Given the description of an element on the screen output the (x, y) to click on. 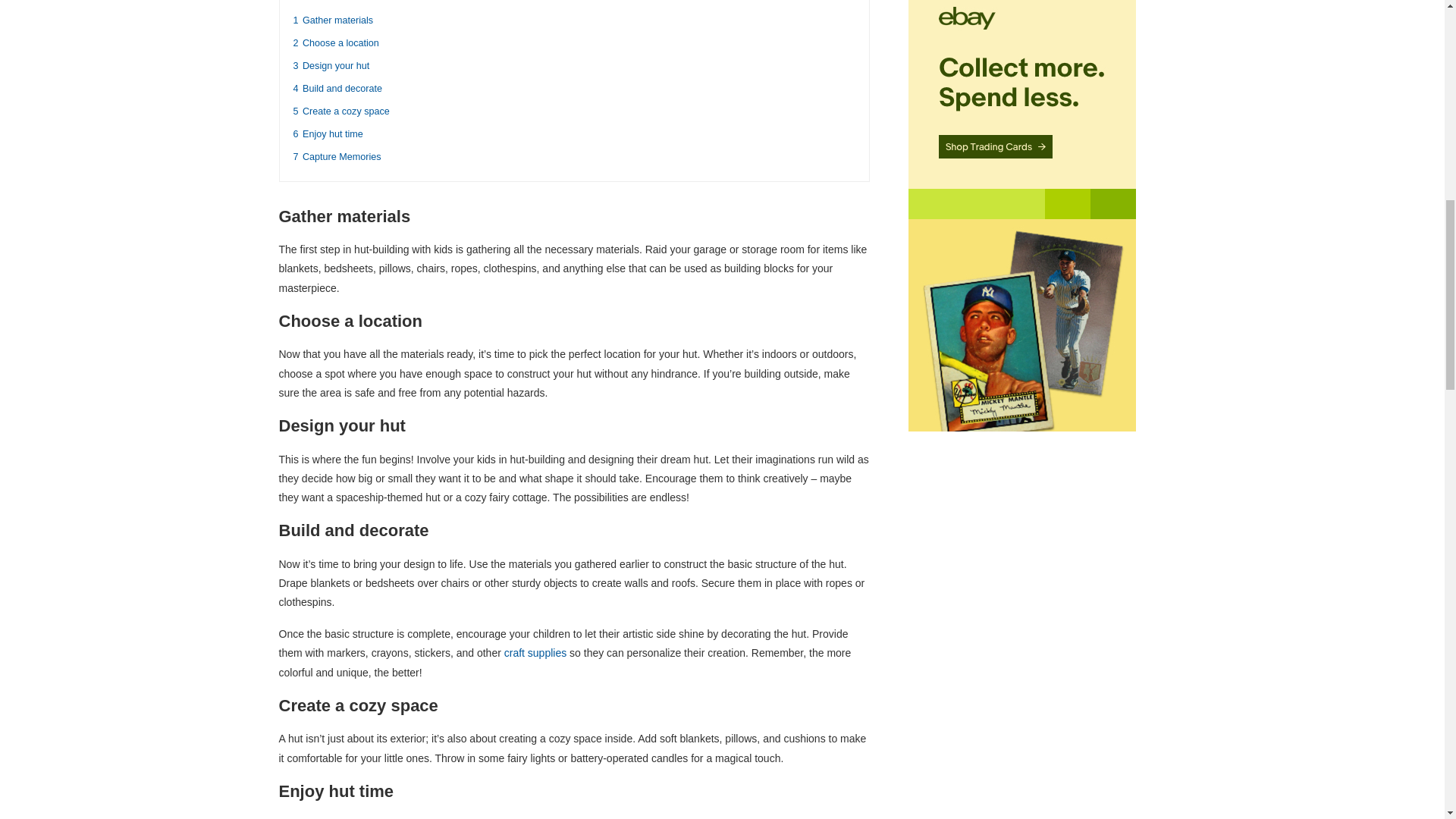
6 Enjoy hut time (327, 133)
2 Choose a location (335, 42)
7 Capture Memories (336, 156)
3 Design your hut (330, 65)
1 Gather materials (332, 20)
5 Create a cozy space (340, 111)
craft supplies (534, 653)
read books (835, 818)
4 Build and decorate (336, 88)
